Given the description of an element on the screen output the (x, y) to click on. 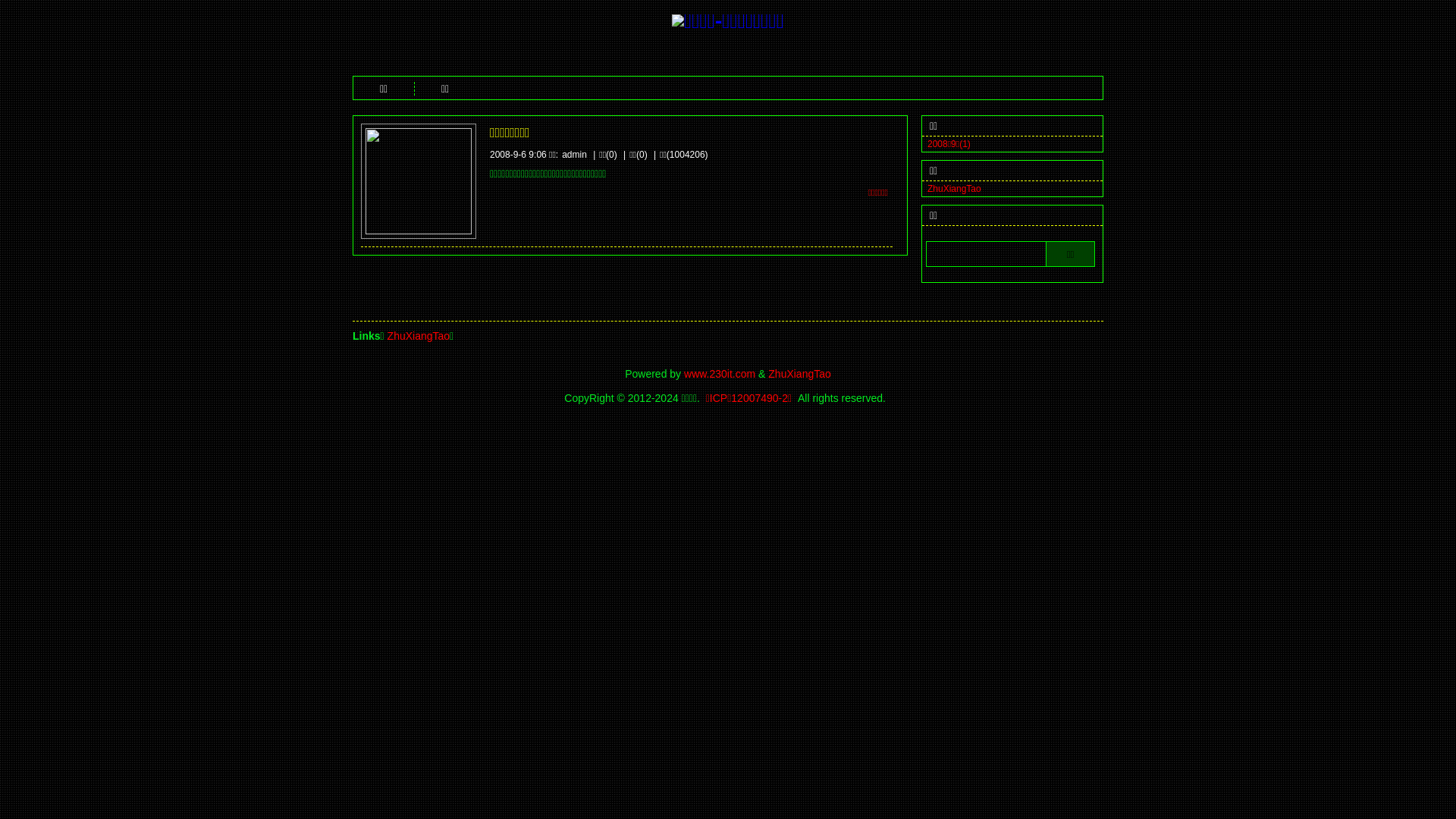
ZhuXiangTao Element type: text (799, 373)
admin Element type: text (573, 154)
ZhuXiangTao Element type: text (954, 188)
ZhuXiangTao Element type: text (418, 335)
www.230it.com Element type: text (719, 373)
